Given the description of an element on the screen output the (x, y) to click on. 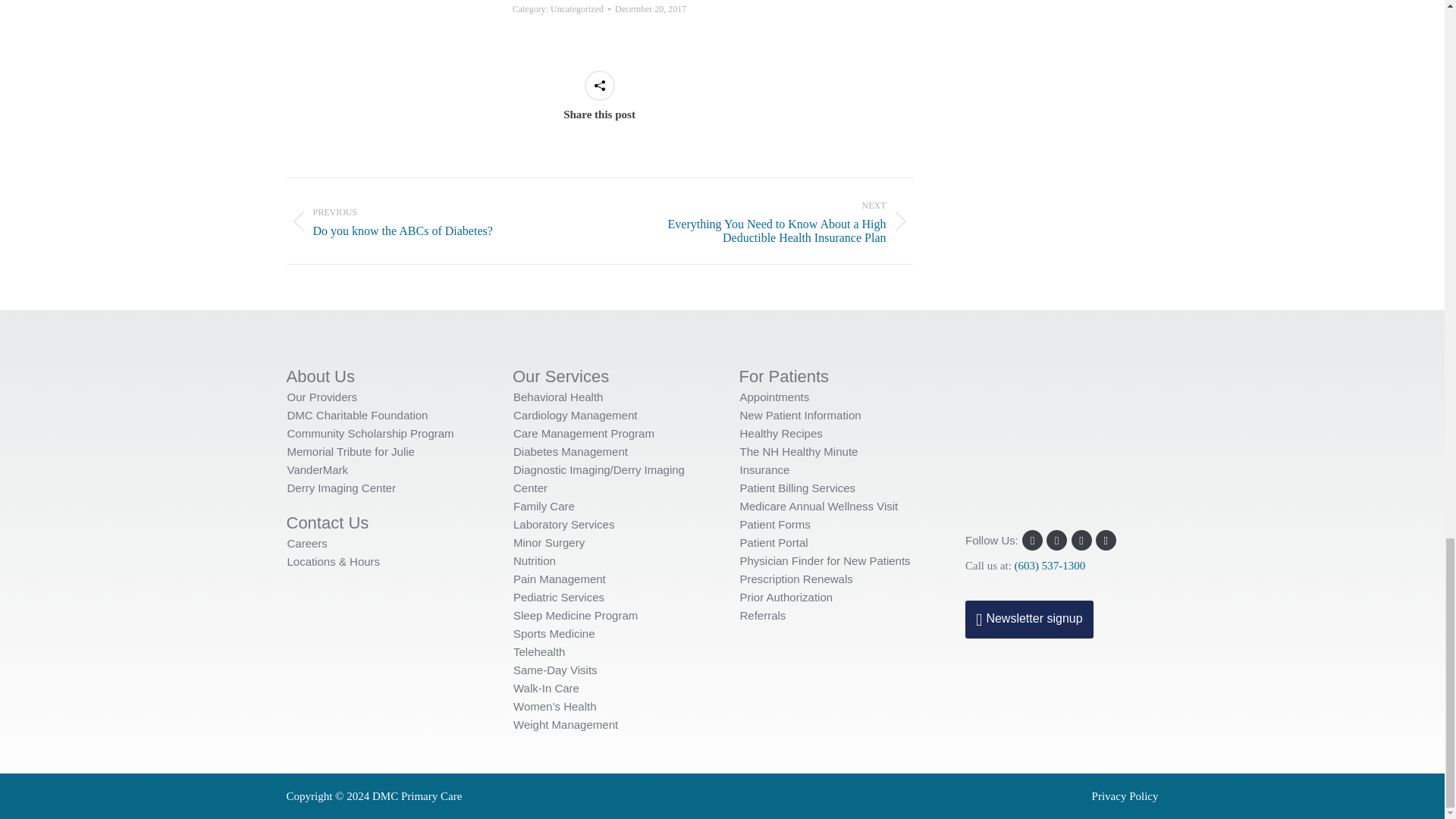
9:27 pm (649, 8)
